Given the description of an element on the screen output the (x, y) to click on. 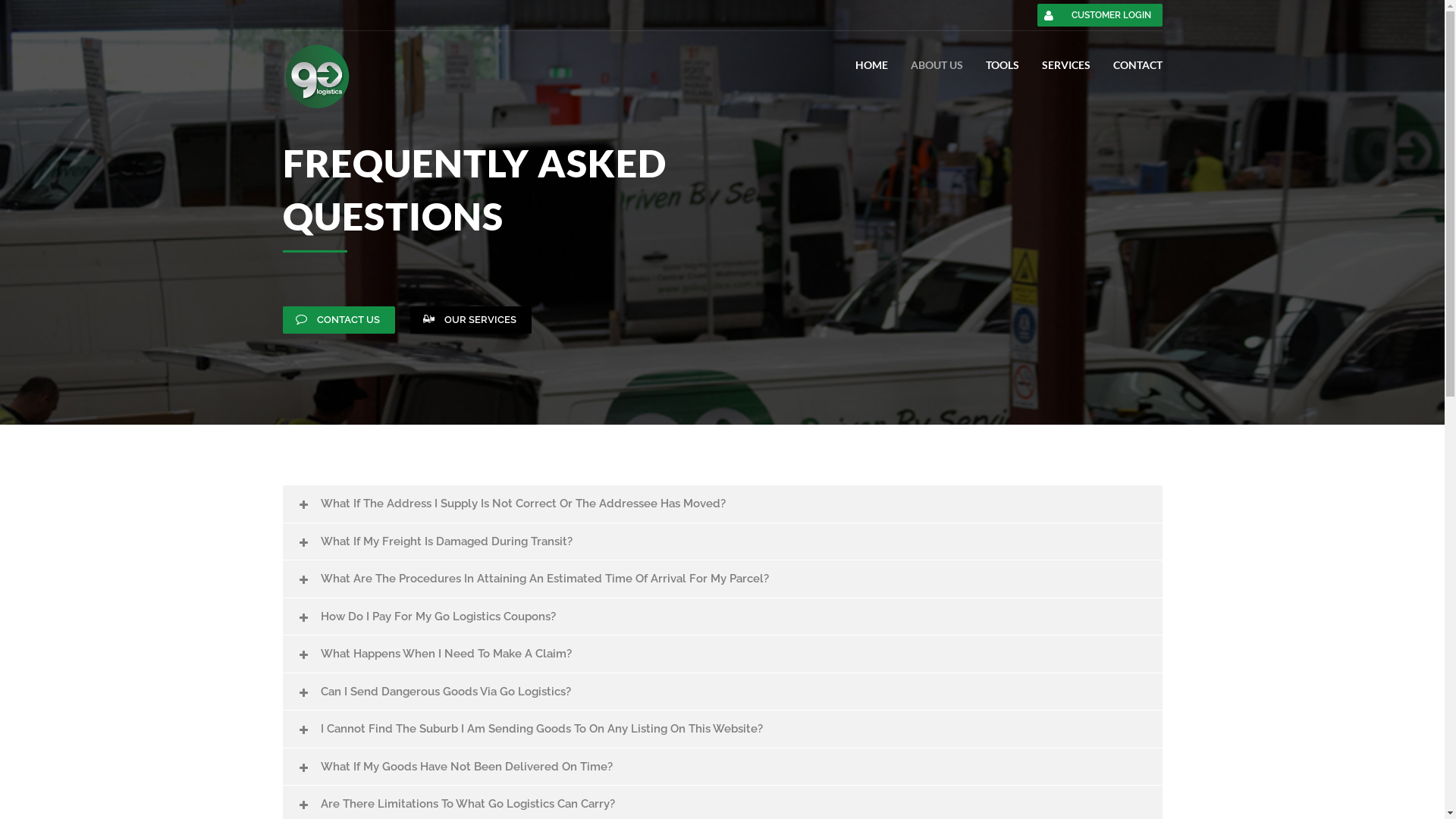
CONTACT Element type: text (1137, 64)
HOME Element type: text (871, 64)
CONTACT US Element type: text (338, 319)
OUR SERVICES Element type: text (469, 319)
SERVICES Element type: text (1065, 64)
ABOUT US Element type: text (936, 64)
TOOLS Element type: text (1002, 64)
